Given the description of an element on the screen output the (x, y) to click on. 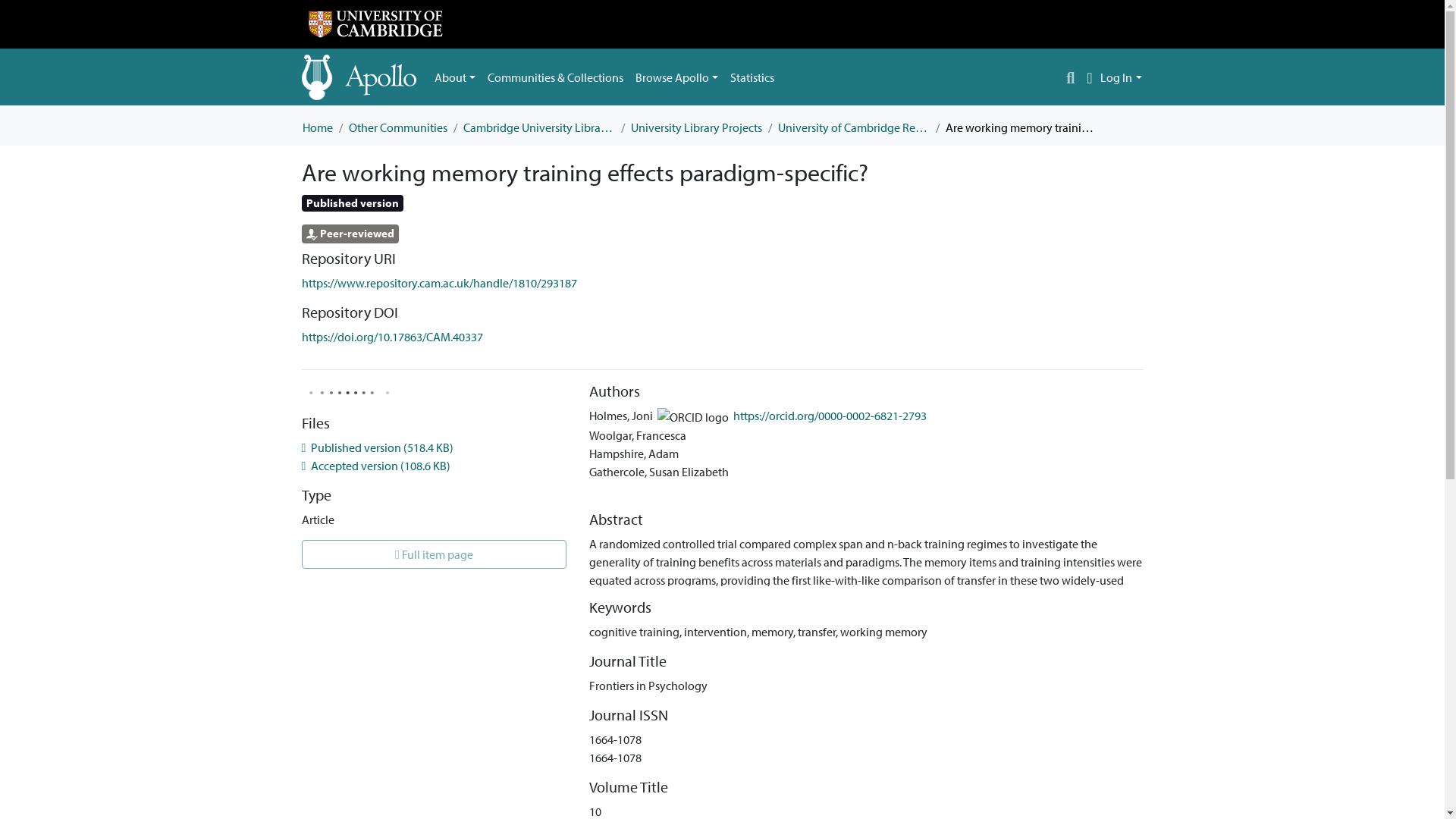
Browse Apollo (675, 77)
Log In (1120, 77)
Statistics (751, 77)
Full item page (434, 553)
Cambridge University Libraries (538, 126)
About (454, 77)
Language switch (1089, 76)
Search (1070, 76)
Home (316, 126)
Other Communities (397, 126)
